Given the description of an element on the screen output the (x, y) to click on. 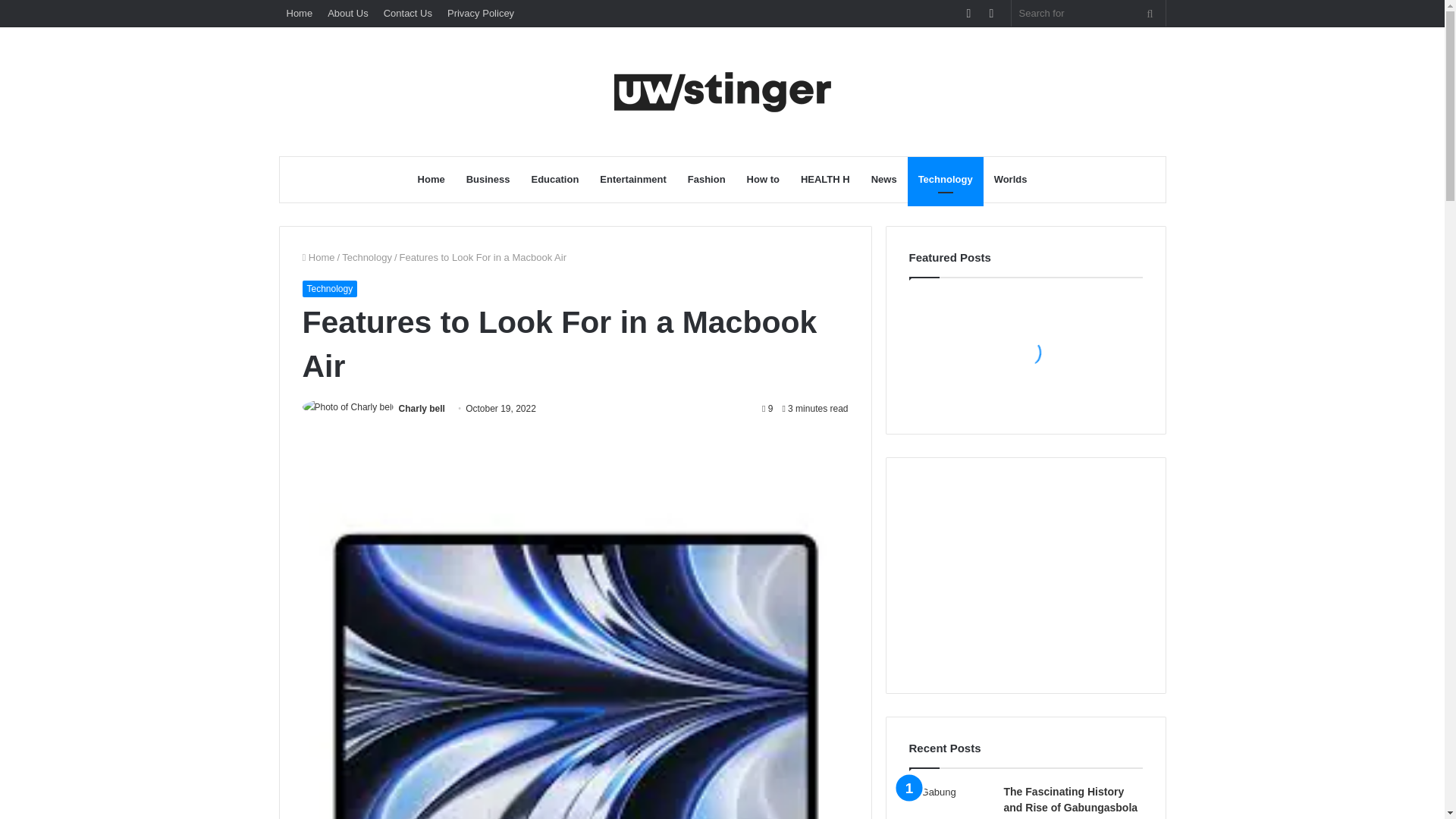
UwStinger.com (721, 91)
Charly bell (421, 408)
Home (299, 13)
Worlds (1011, 179)
Privacy Policey (480, 13)
About Us (347, 13)
Business (488, 179)
News (883, 179)
Search for (1088, 13)
Home (317, 256)
Fashion (706, 179)
Technology (366, 256)
Technology (945, 179)
Search for (1149, 13)
Technology (328, 288)
